Given the description of an element on the screen output the (x, y) to click on. 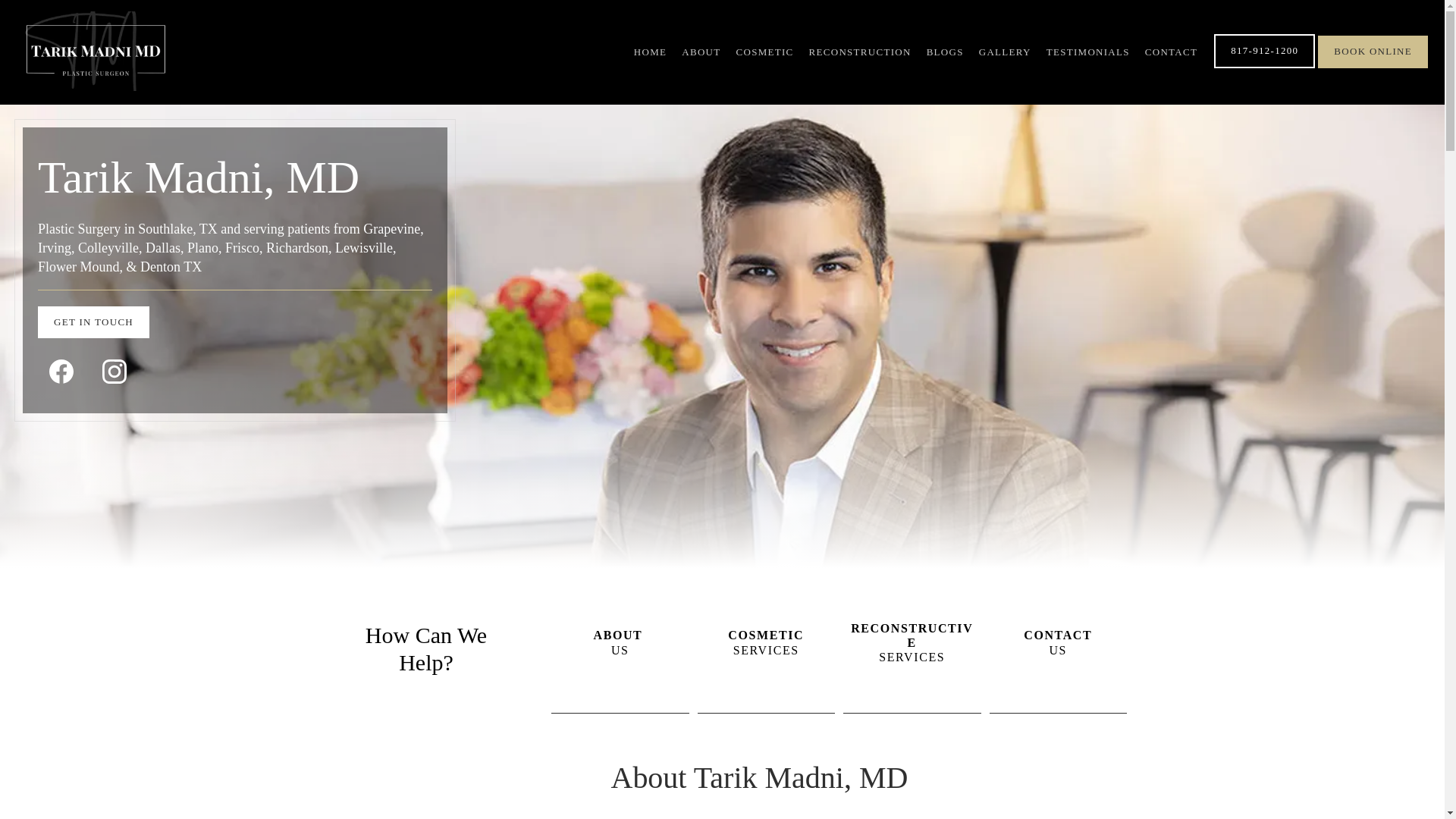
COSMETIC (912, 642)
CONTACT (764, 51)
BLOGS (1170, 51)
GET IN TOUCH (944, 51)
HOME (620, 641)
TESTIMONIALS (94, 323)
BOOK ONLINE (649, 51)
817-912-1200 (1087, 51)
